Given the description of an element on the screen output the (x, y) to click on. 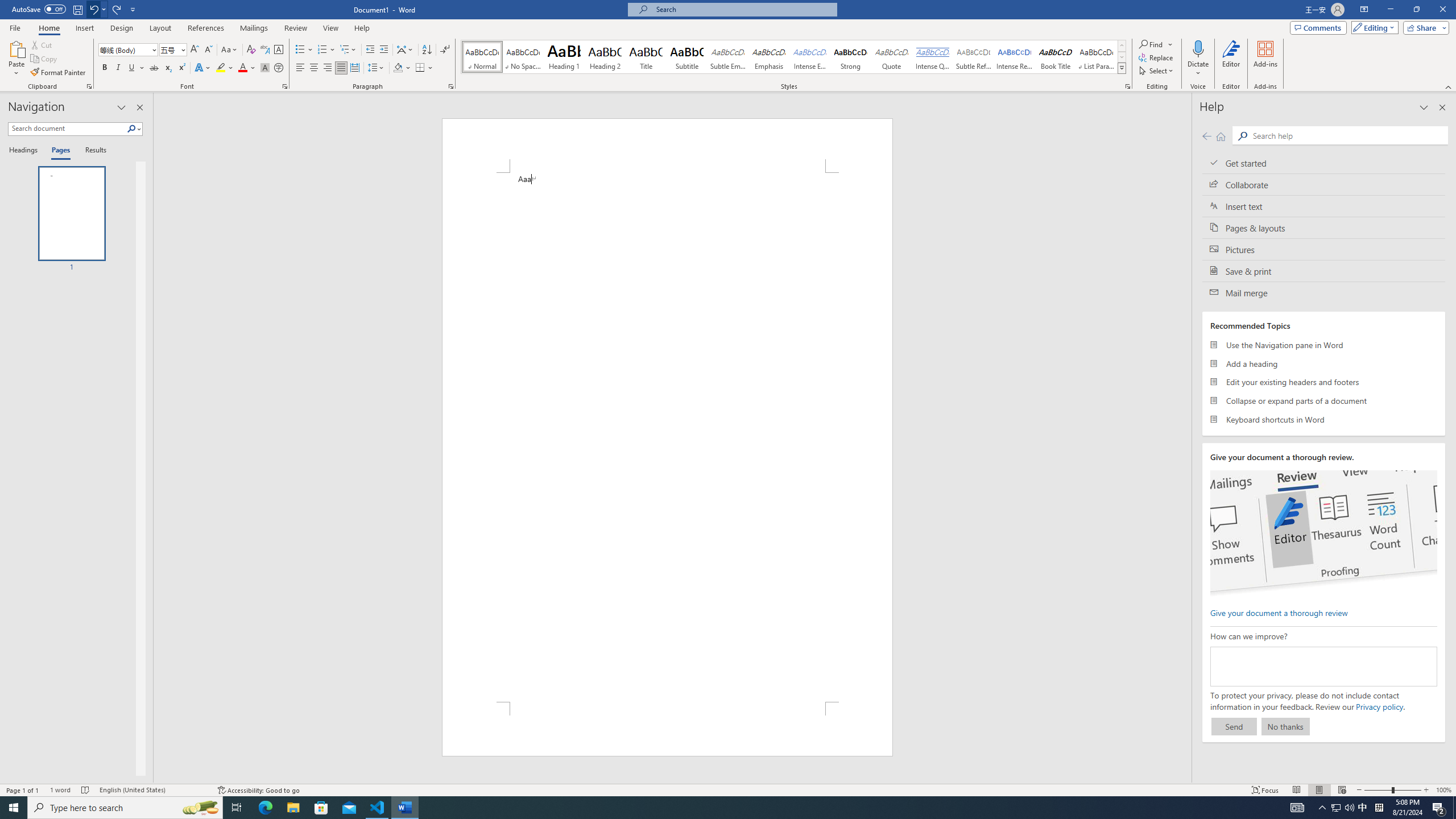
Pages (59, 150)
Superscript (180, 67)
Emphasis (768, 56)
Intense Emphasis (809, 56)
Keyboard shortcuts in Word (1323, 419)
Title (646, 56)
Italic (118, 67)
Insert (83, 28)
Results (91, 150)
